Given the description of an element on the screen output the (x, y) to click on. 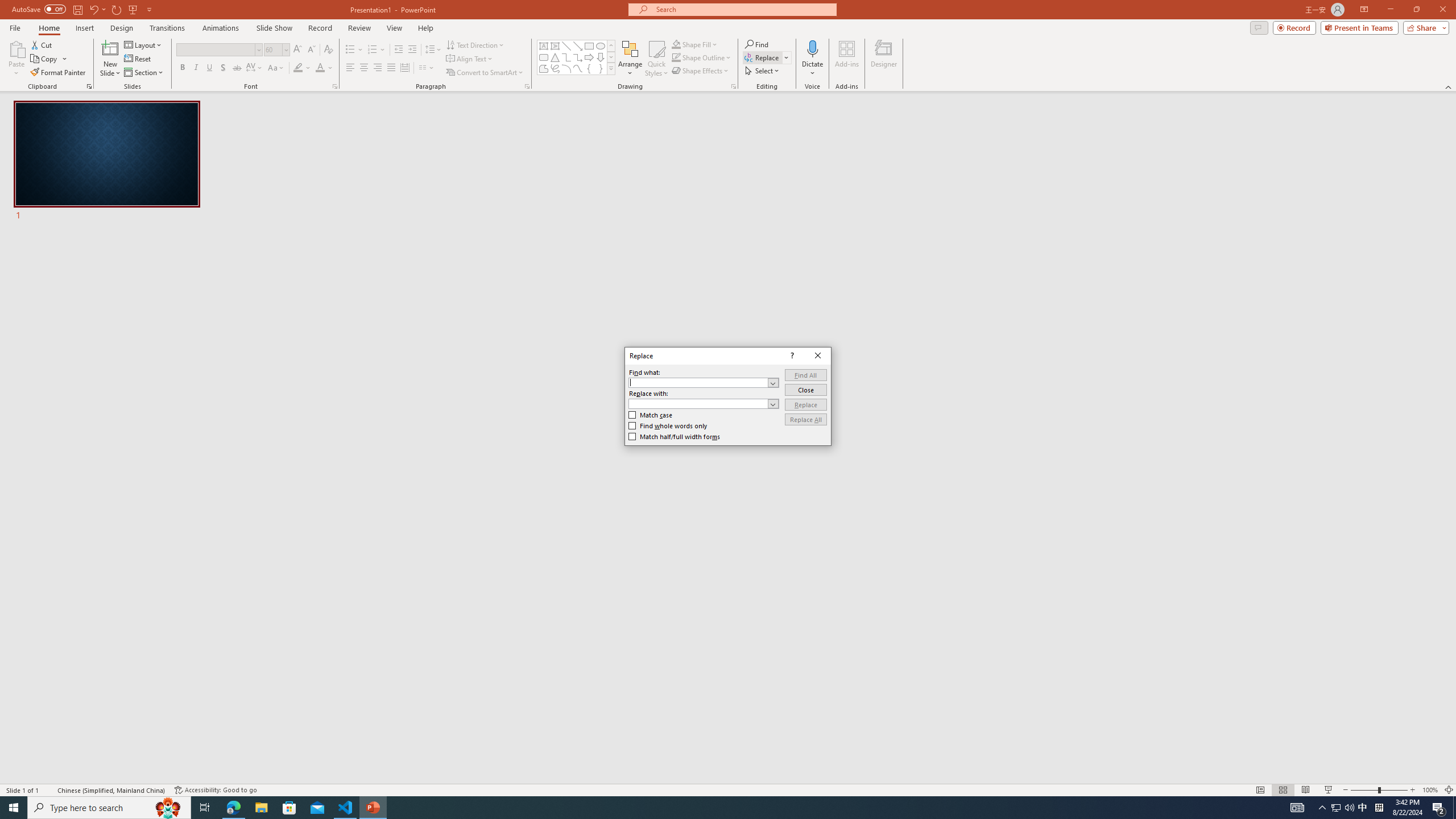
Rectangle: Rounded Corners (543, 57)
Underline (209, 67)
Office Clipboard... (88, 85)
Find All (805, 374)
Shape Fill (694, 44)
Running applications (707, 807)
Find... (756, 44)
Cut (42, 44)
Context help (791, 355)
Curve (577, 68)
Task View (204, 807)
Arrow: Right (589, 57)
